Given the description of an element on the screen output the (x, y) to click on. 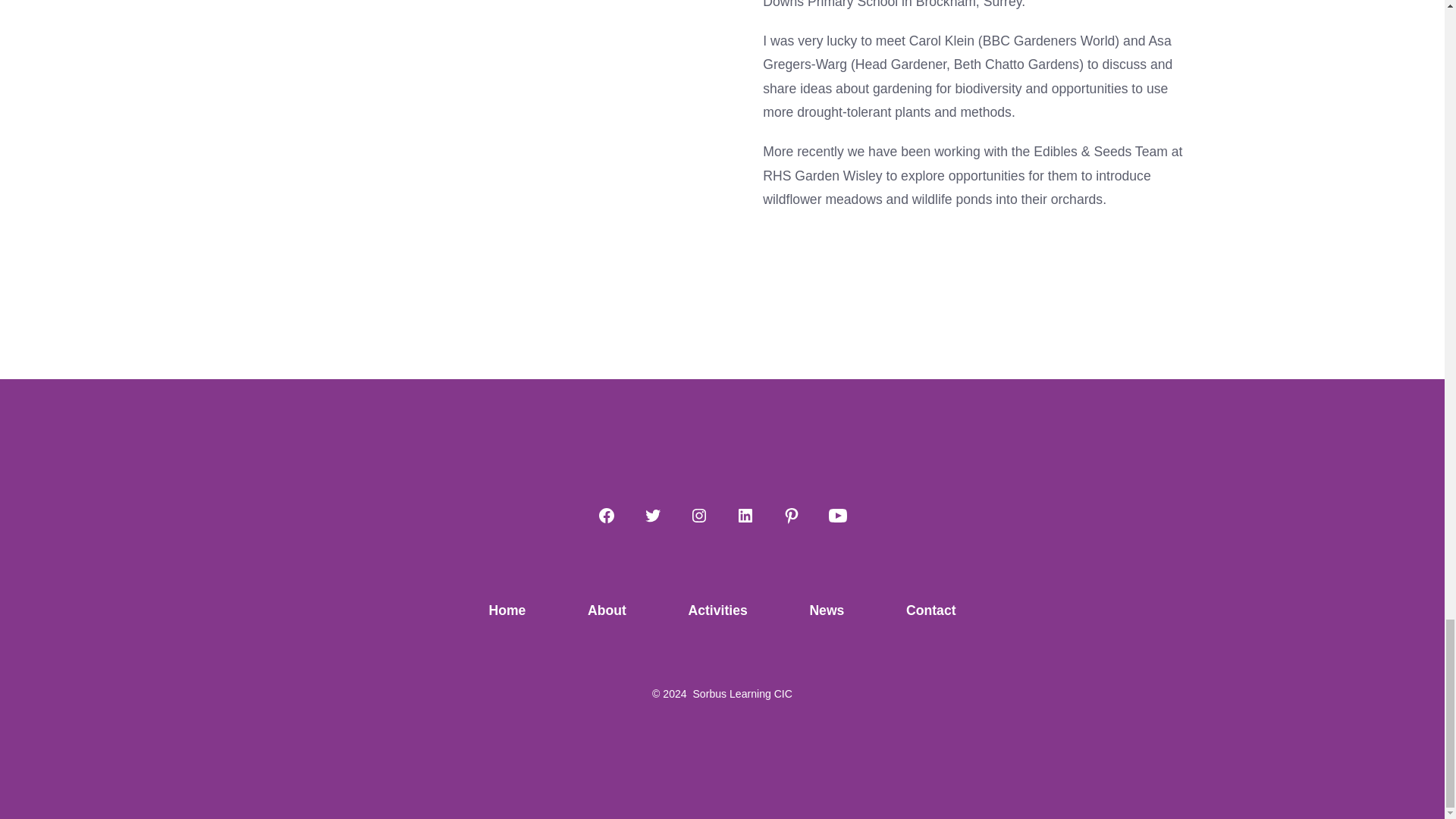
Open Facebook in a new tab (606, 515)
Open Instagram in a new tab (699, 515)
Open YouTube in a new tab (837, 515)
Open Twitter in a new tab (652, 515)
News (826, 611)
About (607, 611)
Activities (717, 611)
Open LinkedIn in a new tab (745, 515)
Open Pinterest in a new tab (791, 515)
Contact (931, 611)
